Given the description of an element on the screen output the (x, y) to click on. 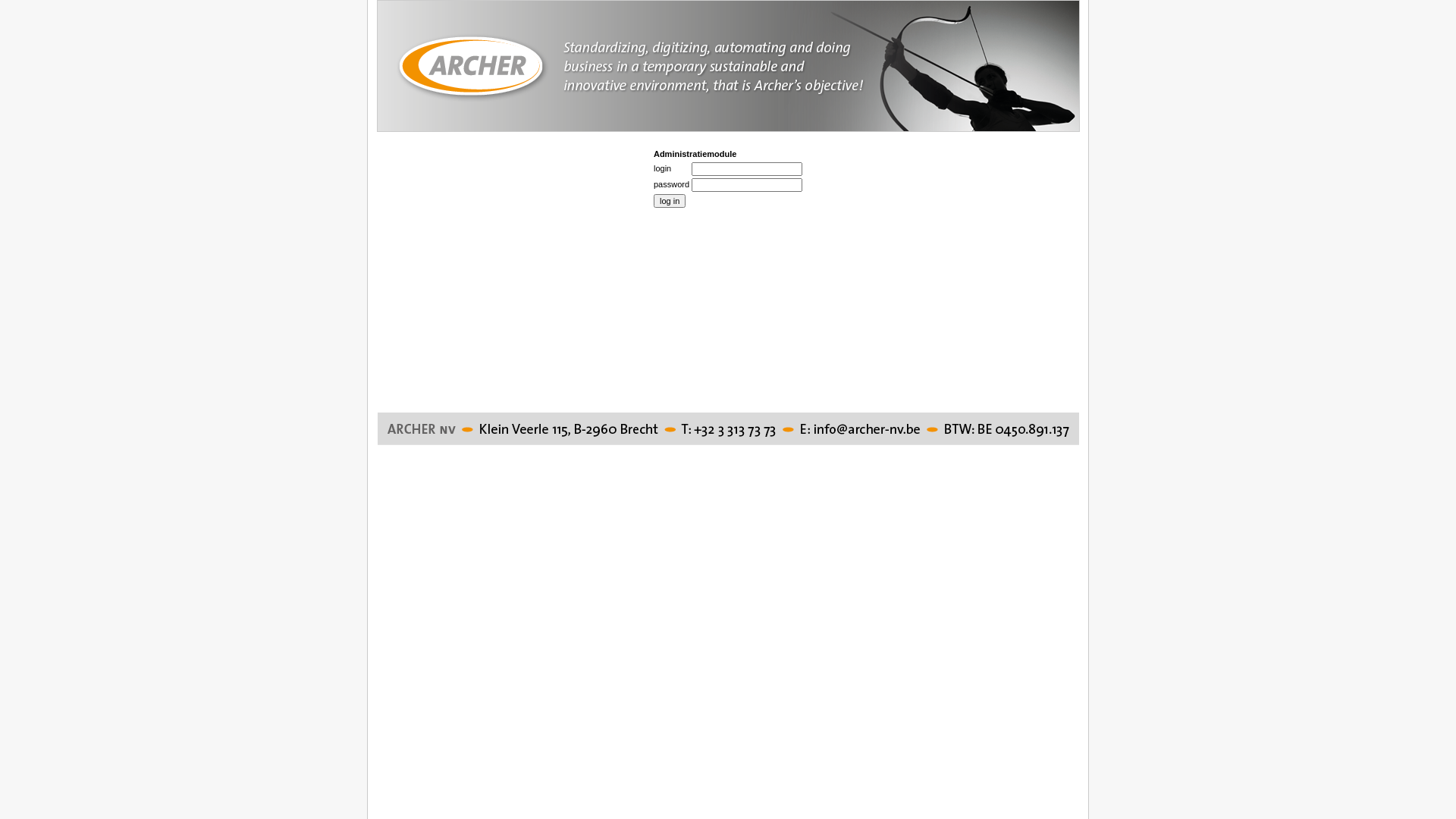
log in Element type: text (669, 200)
